Given the description of an element on the screen output the (x, y) to click on. 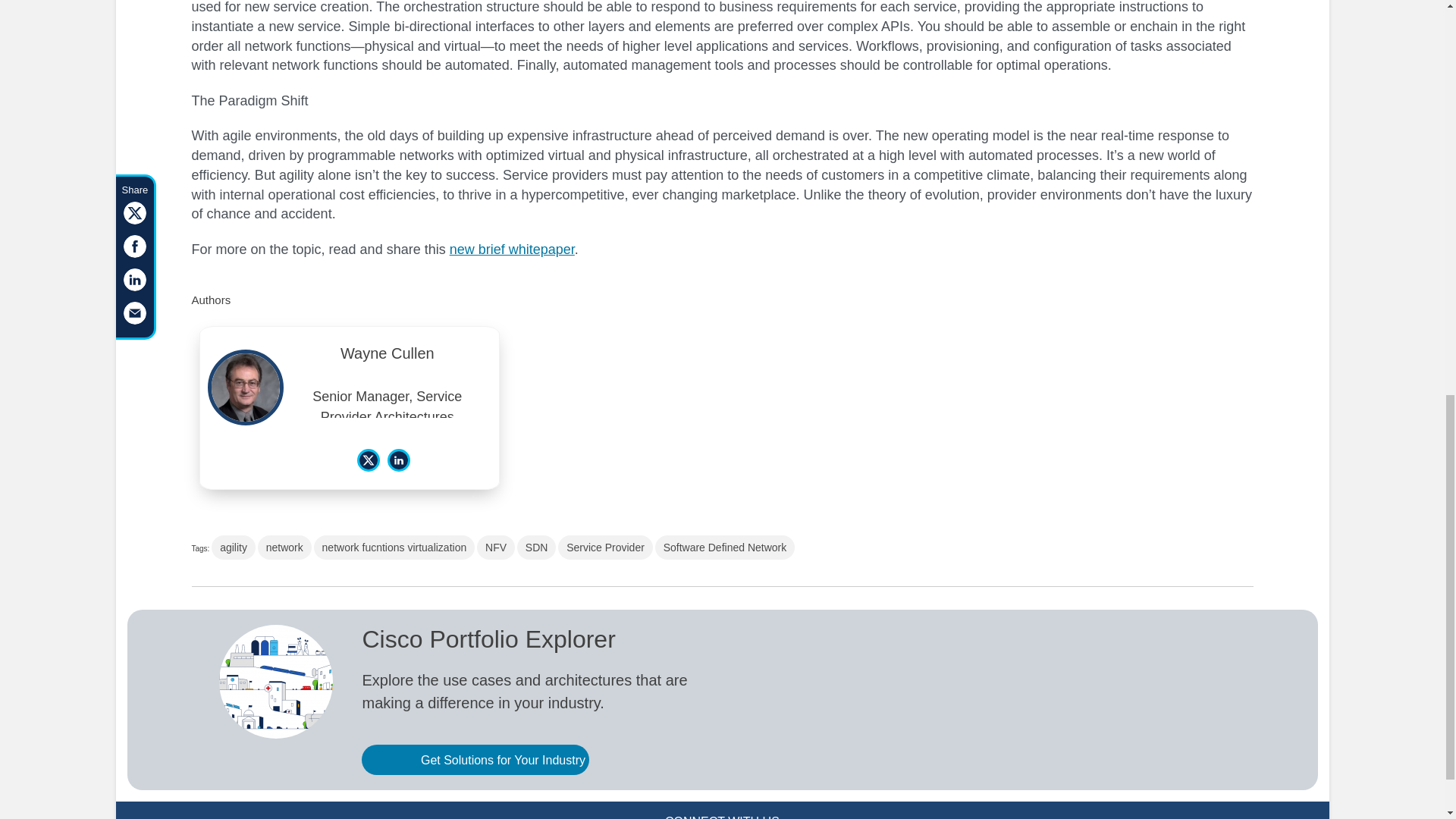
Get Solutions for Your Industry (475, 759)
SDN (536, 547)
network fucntions virtualization (395, 547)
Service Provider (604, 547)
Wayne Cullen (387, 357)
new brief whitepaper (512, 249)
NFV (496, 547)
Software Defined Network (724, 547)
network (284, 547)
agility (233, 547)
